Given the description of an element on the screen output the (x, y) to click on. 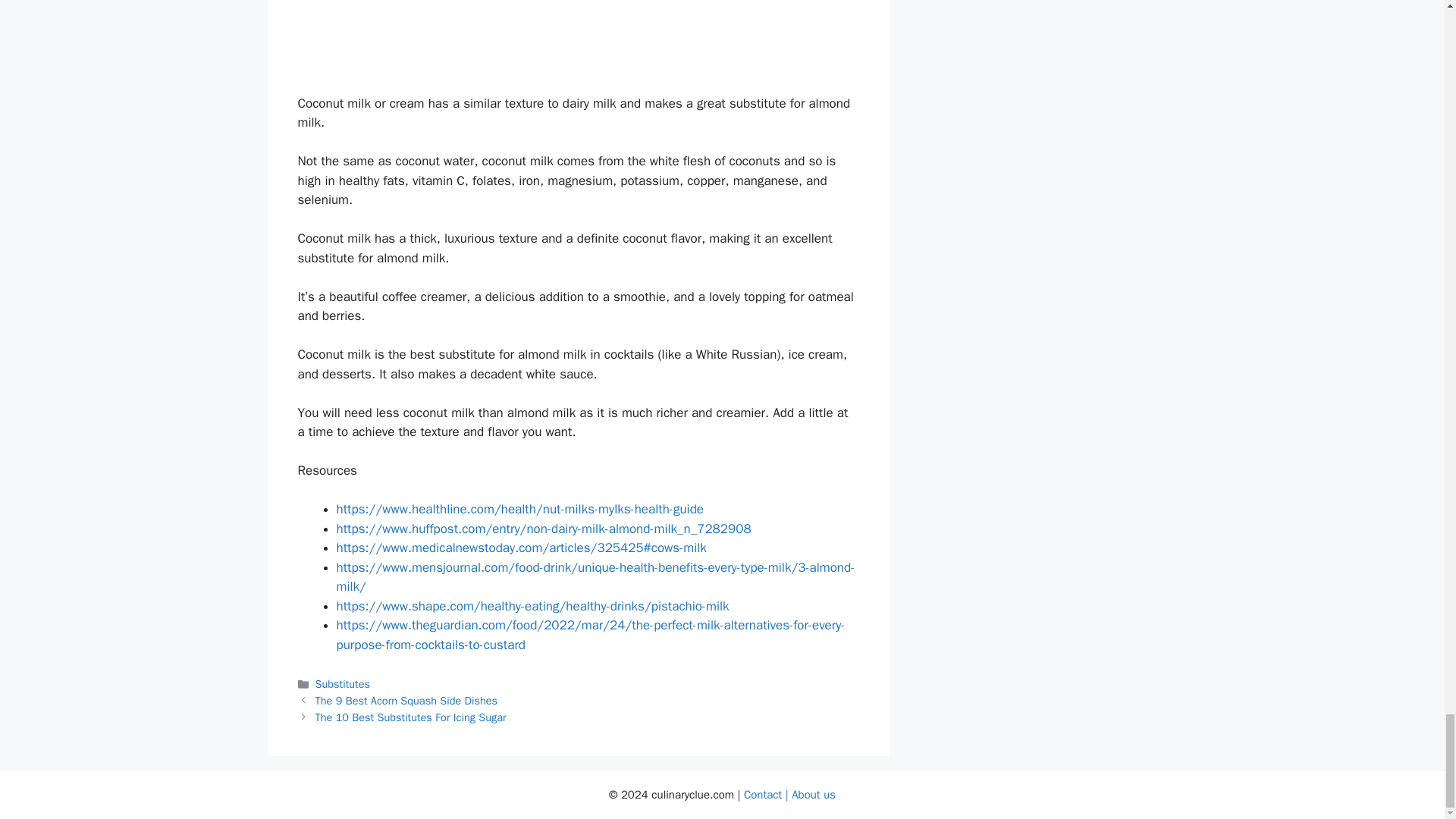
The 10 Best Substitutes For Icing Sugar (410, 716)
Next (410, 716)
Substitutes (342, 684)
Previous (406, 700)
The 9 Best Acorn Squash Side Dishes (406, 700)
